Given the description of an element on the screen output the (x, y) to click on. 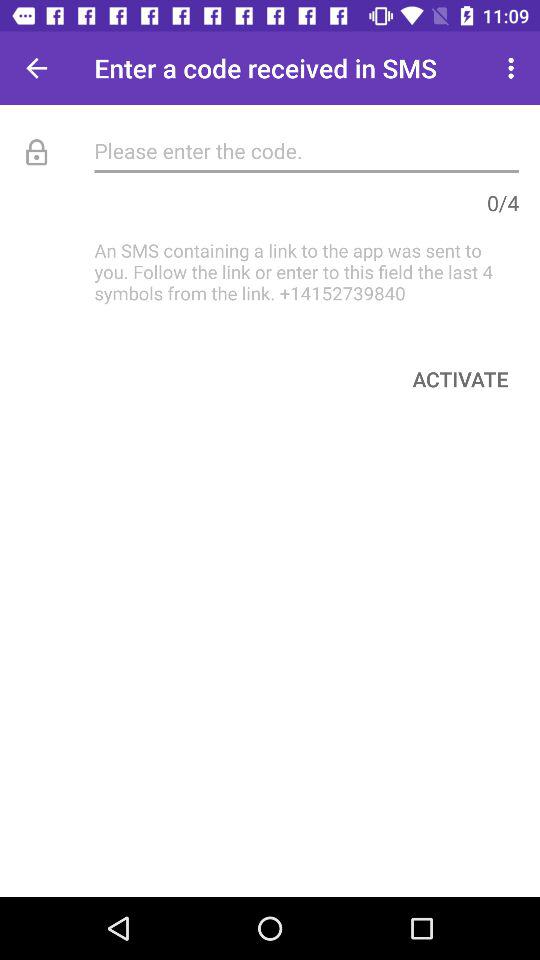
confirmation code by sms (306, 150)
